Given the description of an element on the screen output the (x, y) to click on. 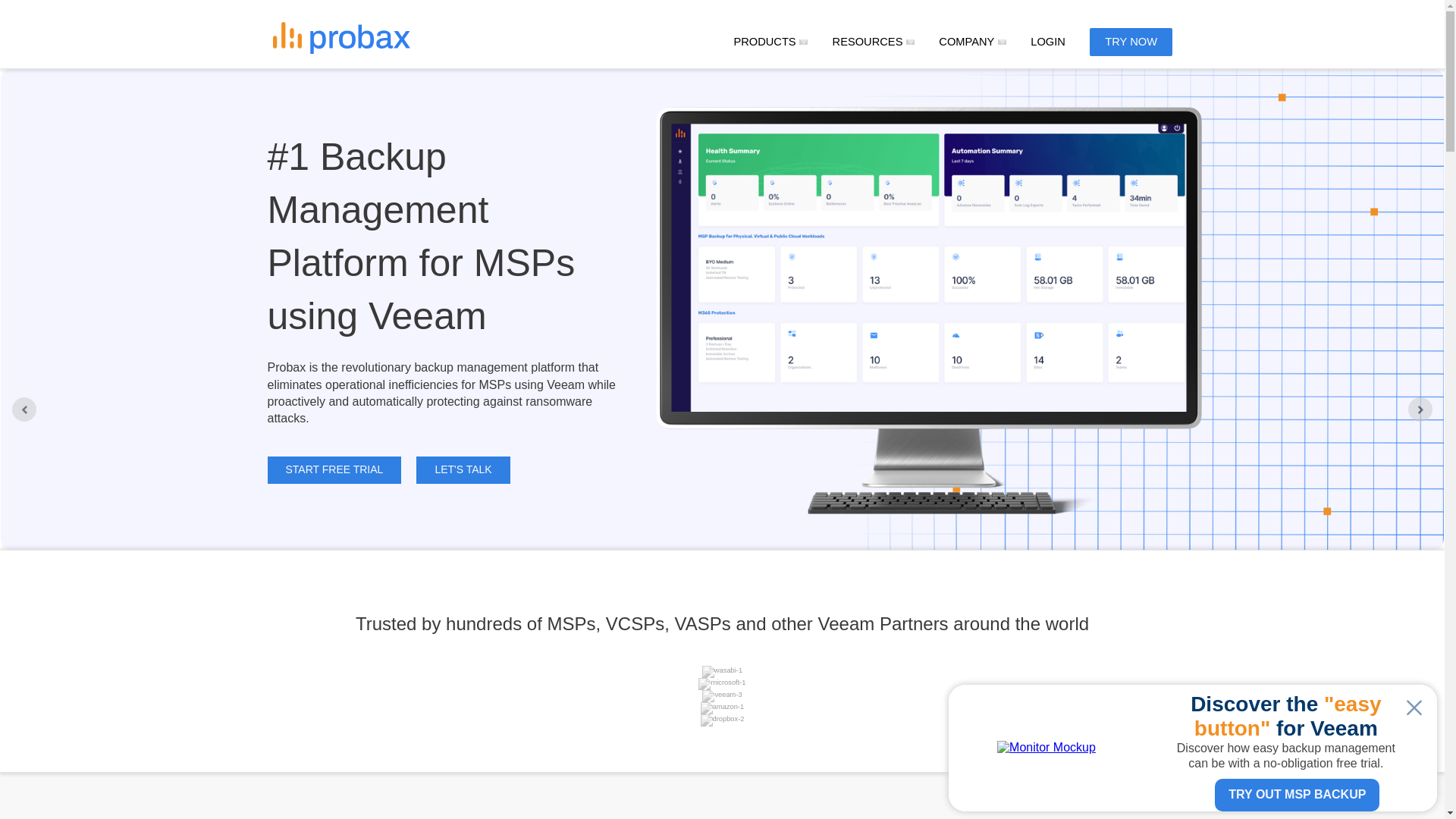
Show submenu for Resources (909, 42)
RESOURCES (867, 41)
PRODUCTS (763, 41)
Show submenu for Products (803, 42)
Popup CTA (1193, 747)
Show submenu for Company (1001, 42)
TRY NOW (1130, 41)
LOGIN (1047, 41)
COMPANY (966, 41)
START FREE TRIAL (333, 470)
